Given the description of an element on the screen output the (x, y) to click on. 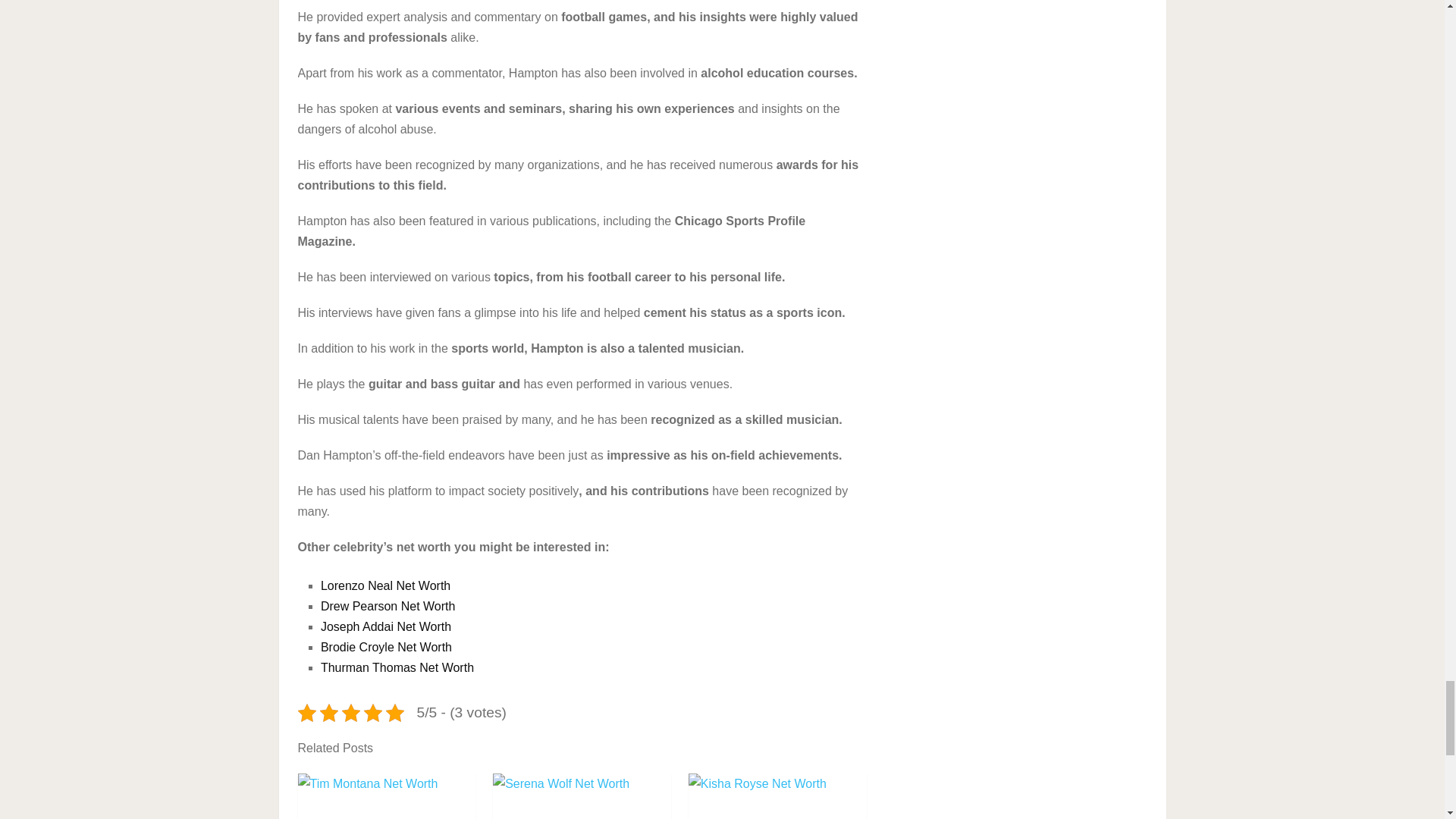
Kisha Royse Net Worth: A Look at Her Wealth and Earnings (777, 796)
Joseph Addai Net Worth (385, 626)
Thurman Thomas Net Worth (397, 667)
Brodie Croyle Net Worth (385, 646)
Lorenzo Neal Net Worth (384, 585)
Drew Pearson Net Worth (387, 605)
Tim Montana Net Worth: How Much is the Country Singer Worth? (386, 796)
Serena Wolf Net Worth: Discover The Chef Secret Wealth (582, 796)
